Given the description of an element on the screen output the (x, y) to click on. 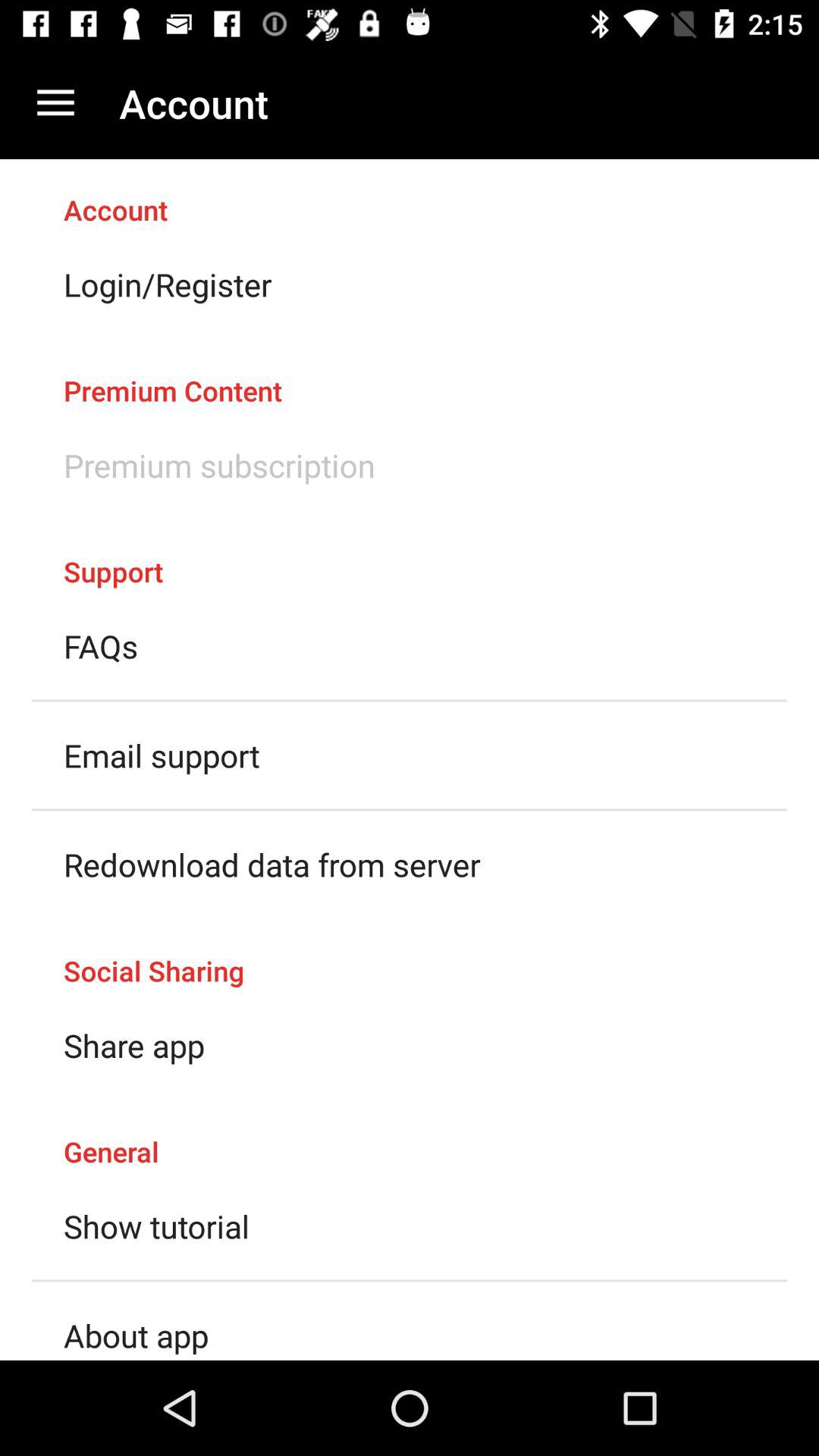
select the premium content item (409, 374)
